Given the description of an element on the screen output the (x, y) to click on. 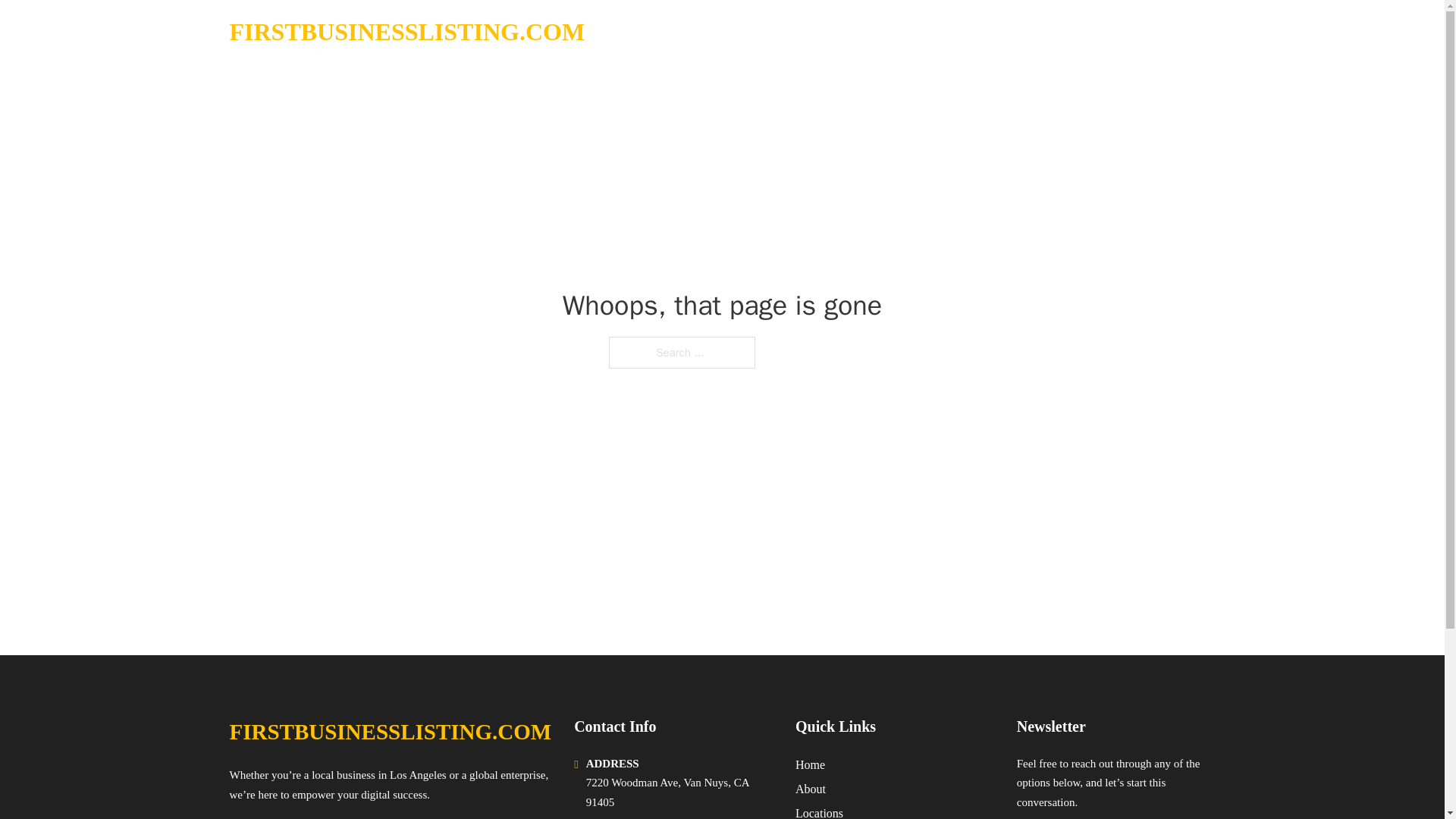
LOCATIONS (1098, 31)
FIRSTBUSINESSLISTING.COM (389, 732)
About (809, 788)
FIRSTBUSINESSLISTING.COM (406, 31)
HOME (1025, 31)
Locations (818, 811)
Home (809, 764)
